Given the description of an element on the screen output the (x, y) to click on. 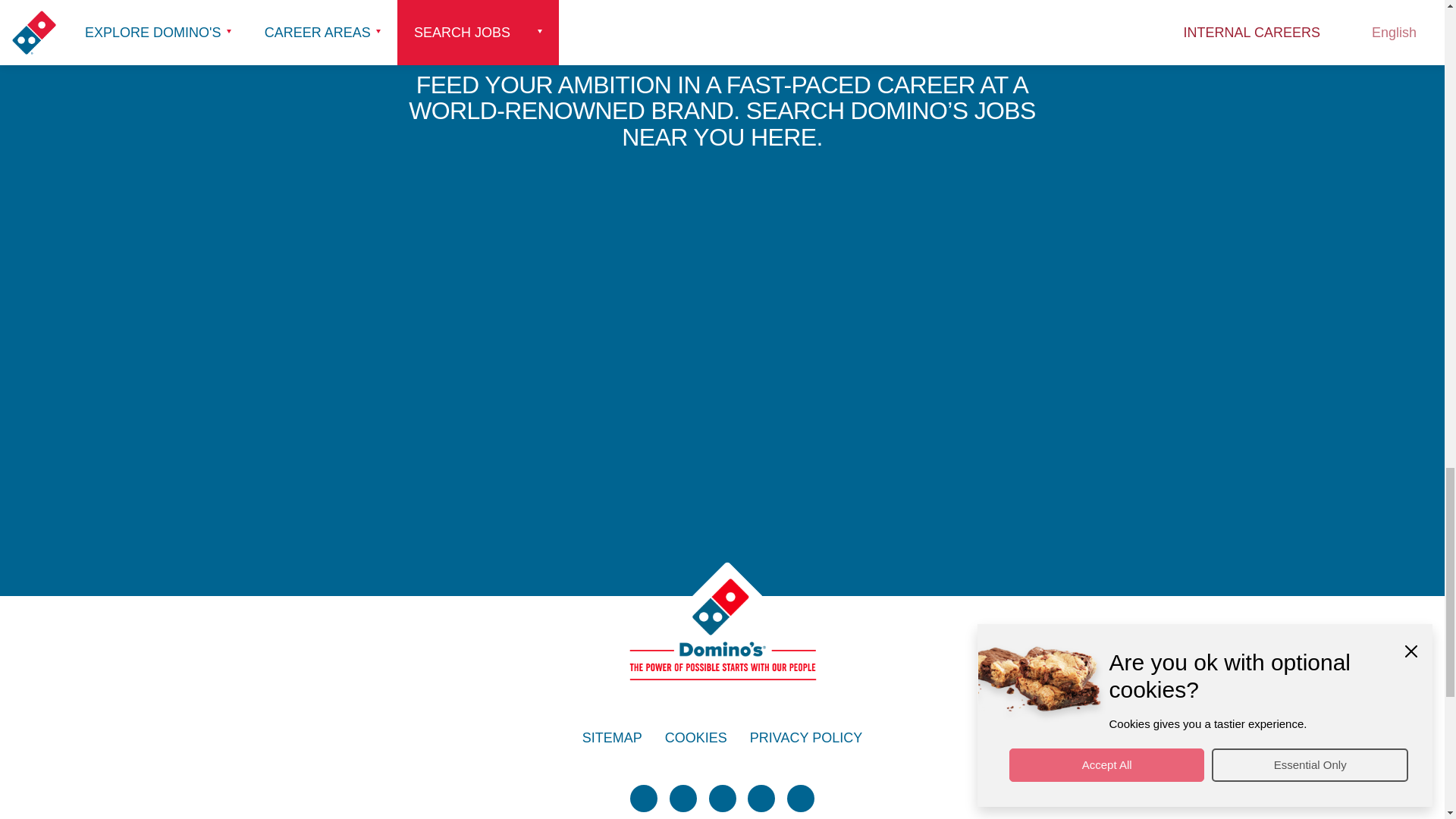
Twitter (644, 798)
LinkedIn (721, 798)
Facebook (683, 798)
YouTube (761, 798)
Glassdoor (800, 798)
